Given the description of an element on the screen output the (x, y) to click on. 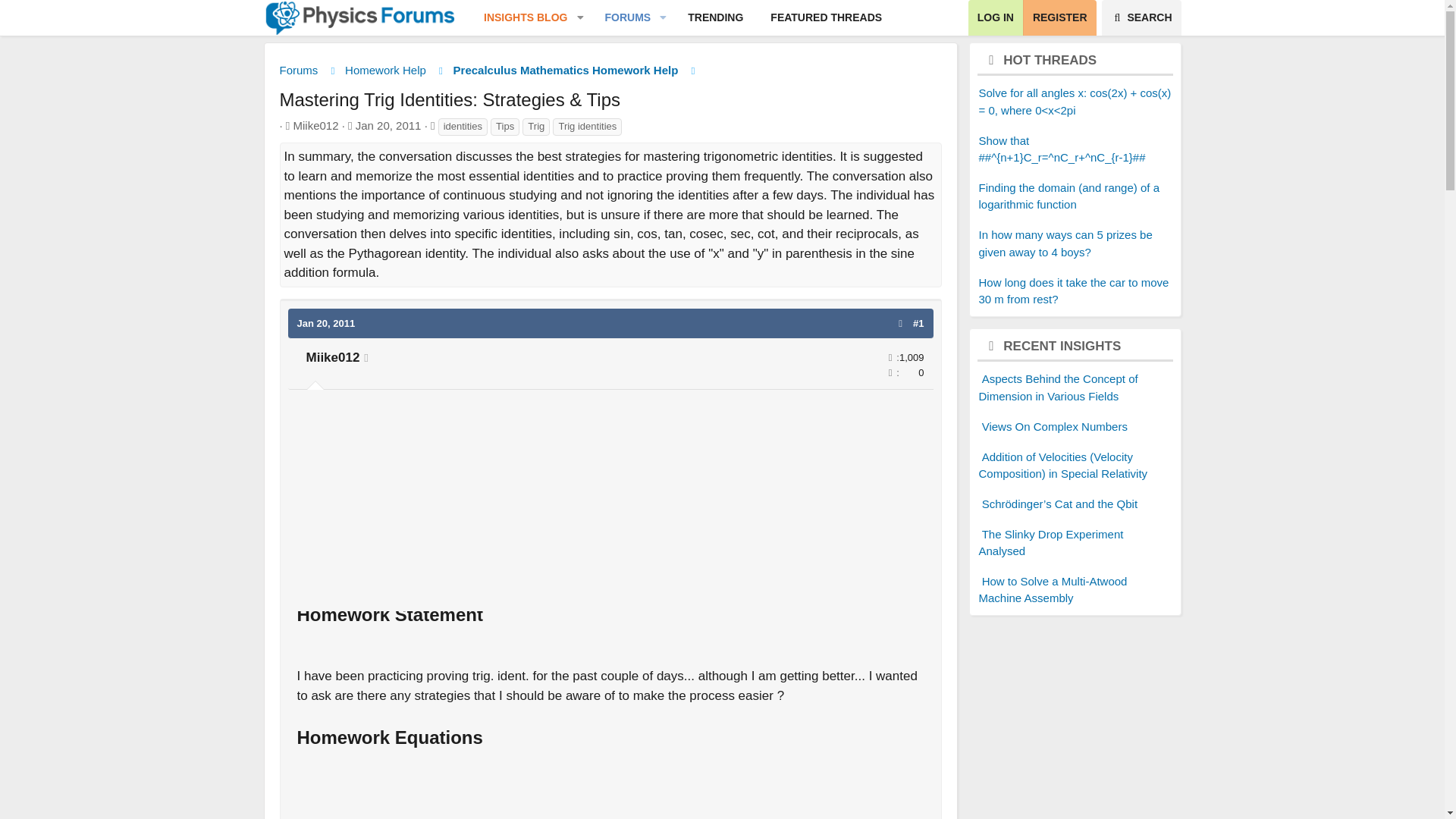
Jan 20, 2011 at 9:46 PM (326, 322)
LOG IN (995, 18)
TRENDING (715, 18)
Search (1140, 18)
SEARCH (682, 18)
REGISTER (1140, 18)
FEATURED THREADS (1059, 18)
Messages (826, 18)
Advertisement (889, 357)
FORUMS (610, 504)
INSIGHTS BLOG (621, 18)
Jan 20, 2011 at 9:46 PM (519, 18)
Reaction score (388, 124)
